Given the description of an element on the screen output the (x, y) to click on. 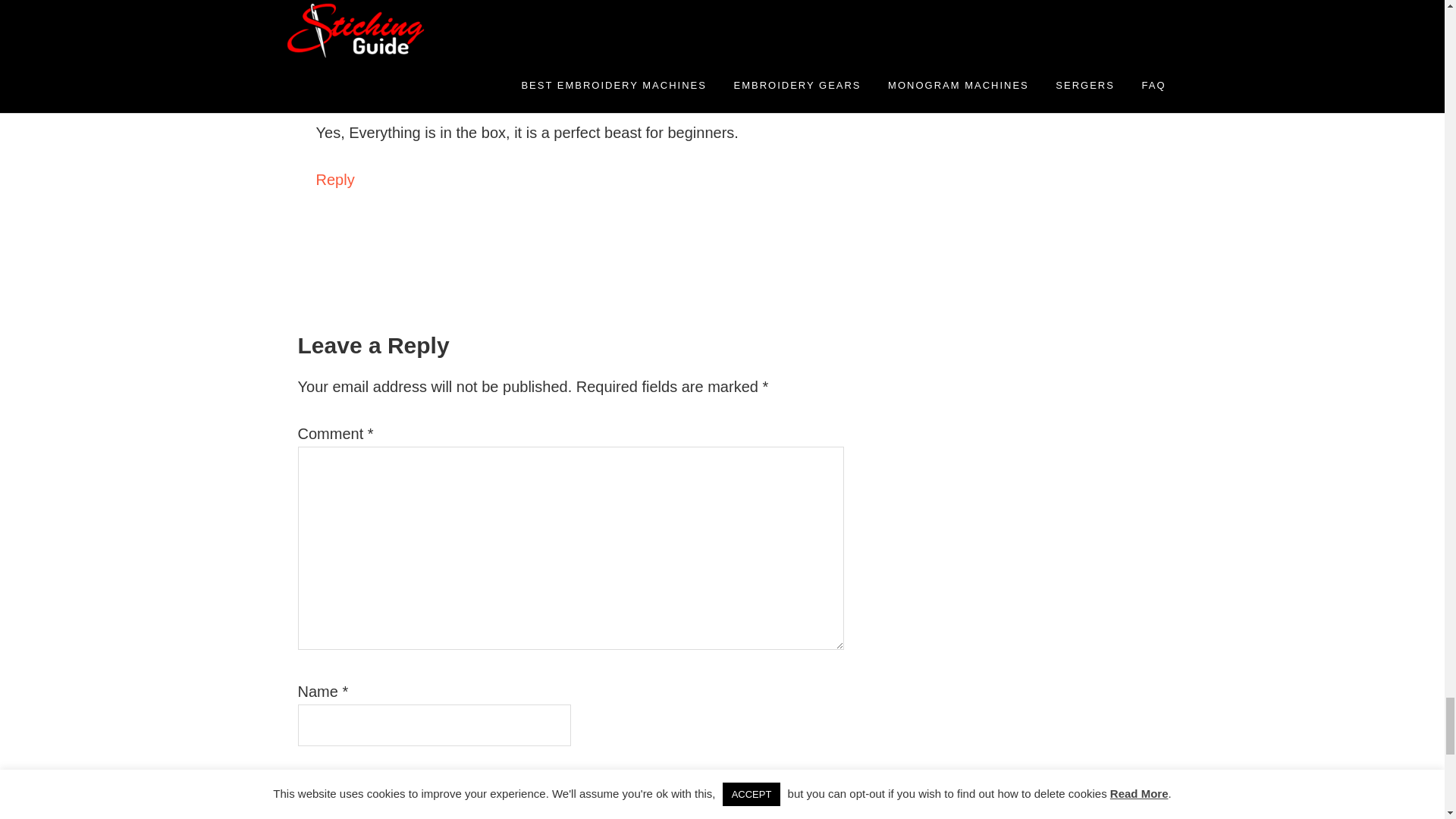
Reply (310, 1)
Patricia Smith (417, 58)
February 19, 2023 at 11:02 am (463, 78)
